Given the description of an element on the screen output the (x, y) to click on. 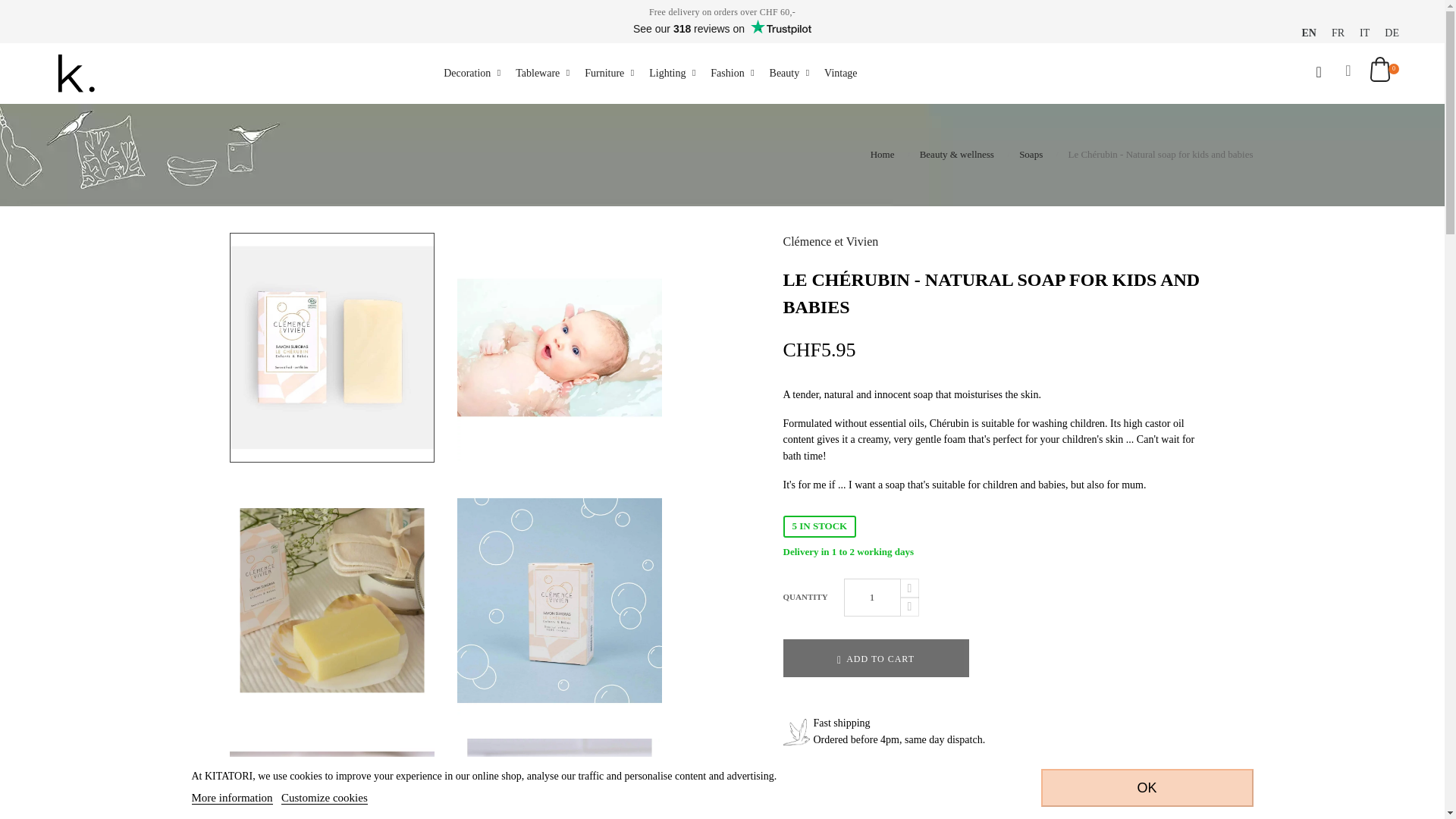
Decoration (472, 72)
Customer reviews powered by Trustpilot (722, 28)
1 (871, 597)
Tableware (542, 72)
